Given the description of an element on the screen output the (x, y) to click on. 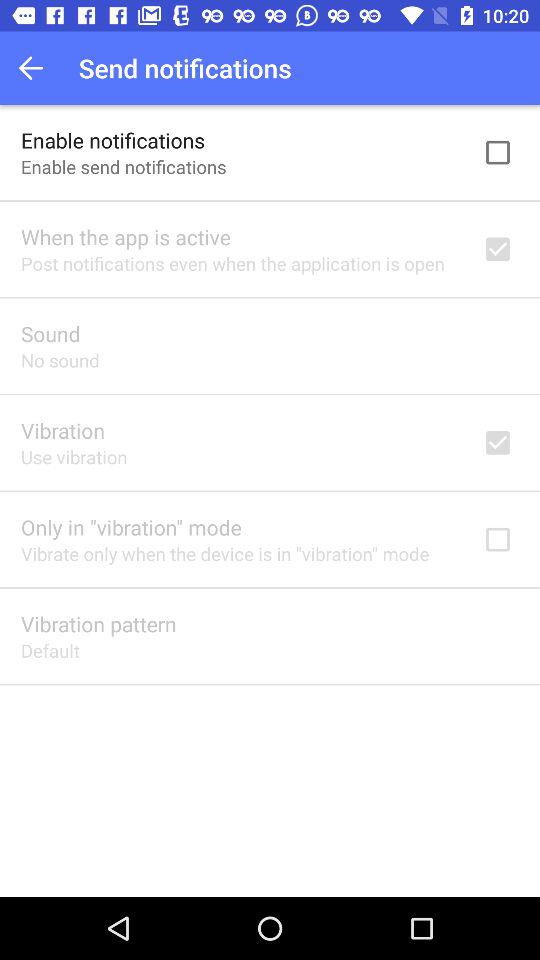
turn on the item above sound (232, 263)
